Given the description of an element on the screen output the (x, y) to click on. 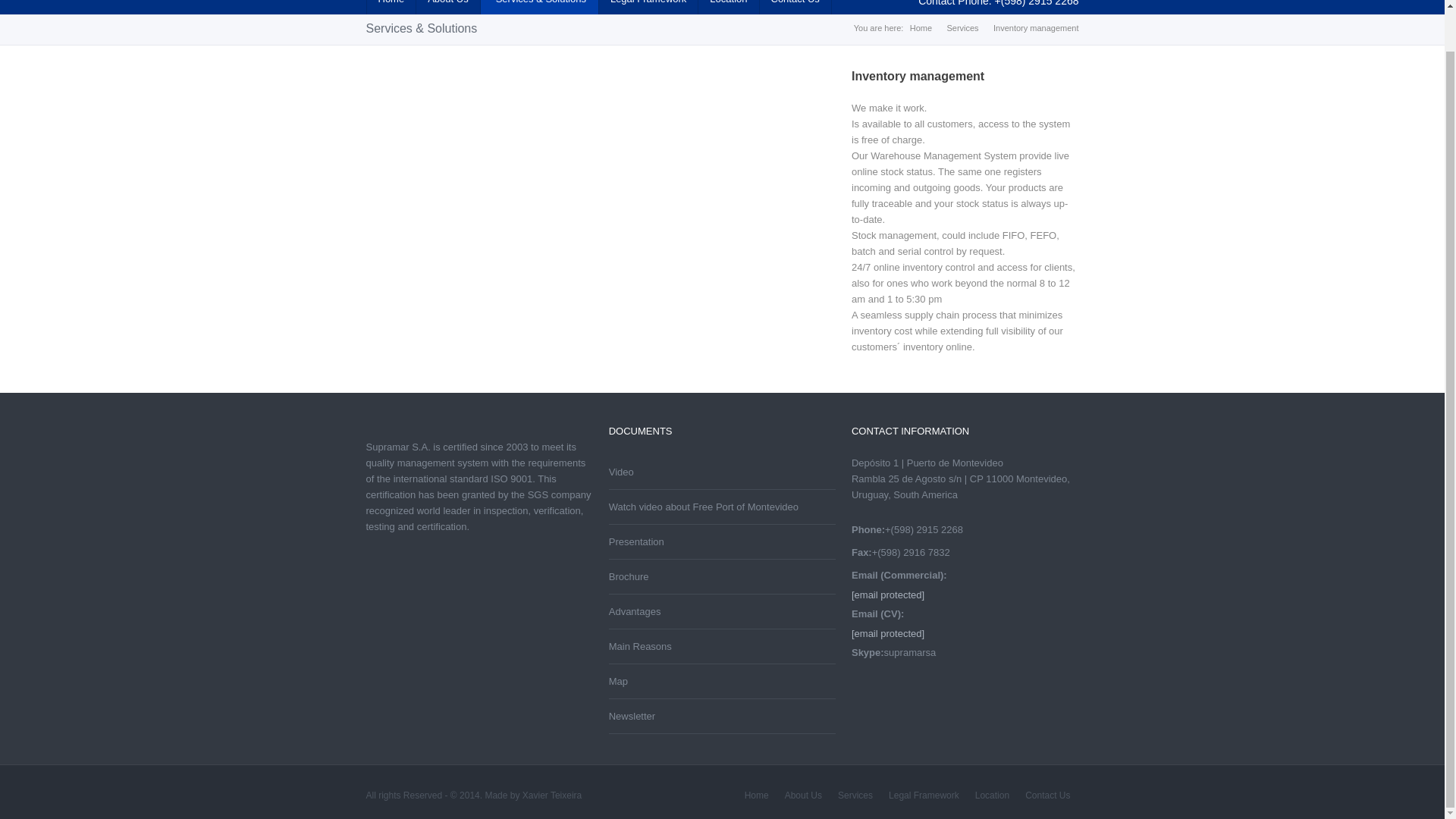
Services (854, 795)
Location (992, 795)
Contact Us (1047, 795)
Legal Framework (647, 7)
Contact Us (794, 7)
Home (389, 7)
Home (920, 27)
Location (727, 7)
Home (756, 795)
About Us (446, 7)
